Given the description of an element on the screen output the (x, y) to click on. 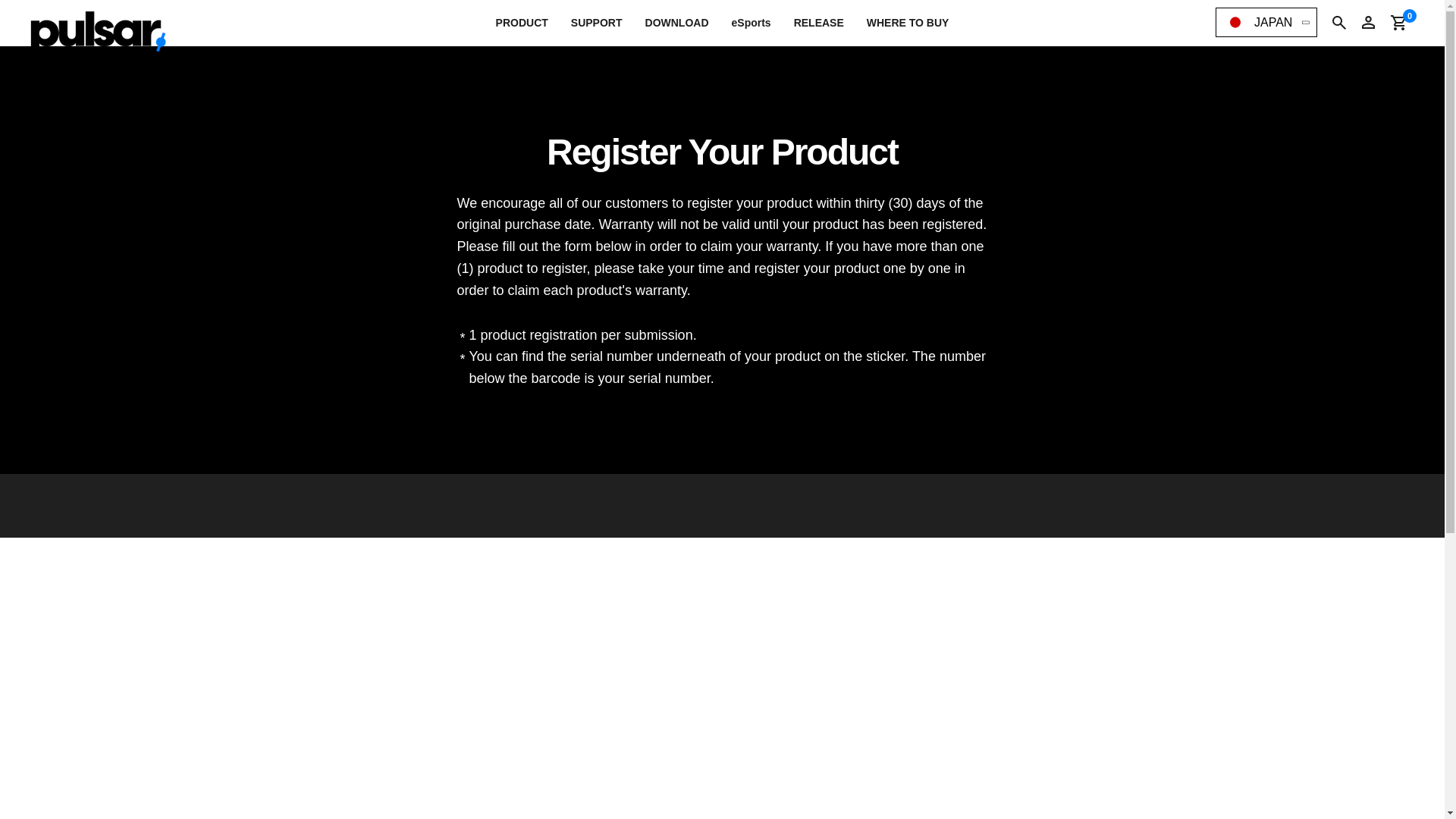
PRODUCT (522, 22)
SUPPORT (596, 22)
